Given the description of an element on the screen output the (x, y) to click on. 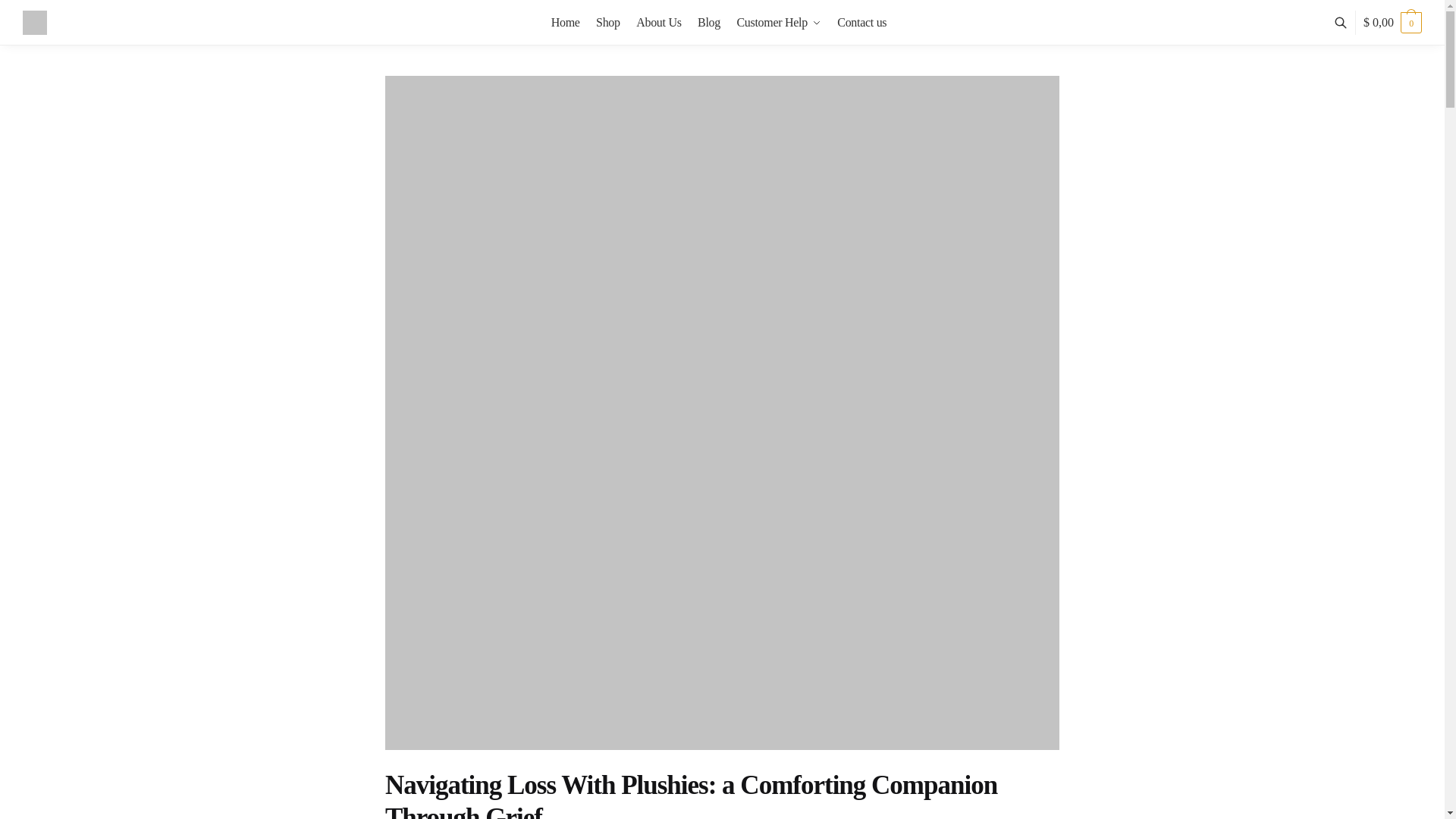
View your shopping cart (1392, 22)
About Us (658, 22)
Search (461, 47)
Customer Help (778, 22)
Contact us (861, 22)
